Given the description of an element on the screen output the (x, y) to click on. 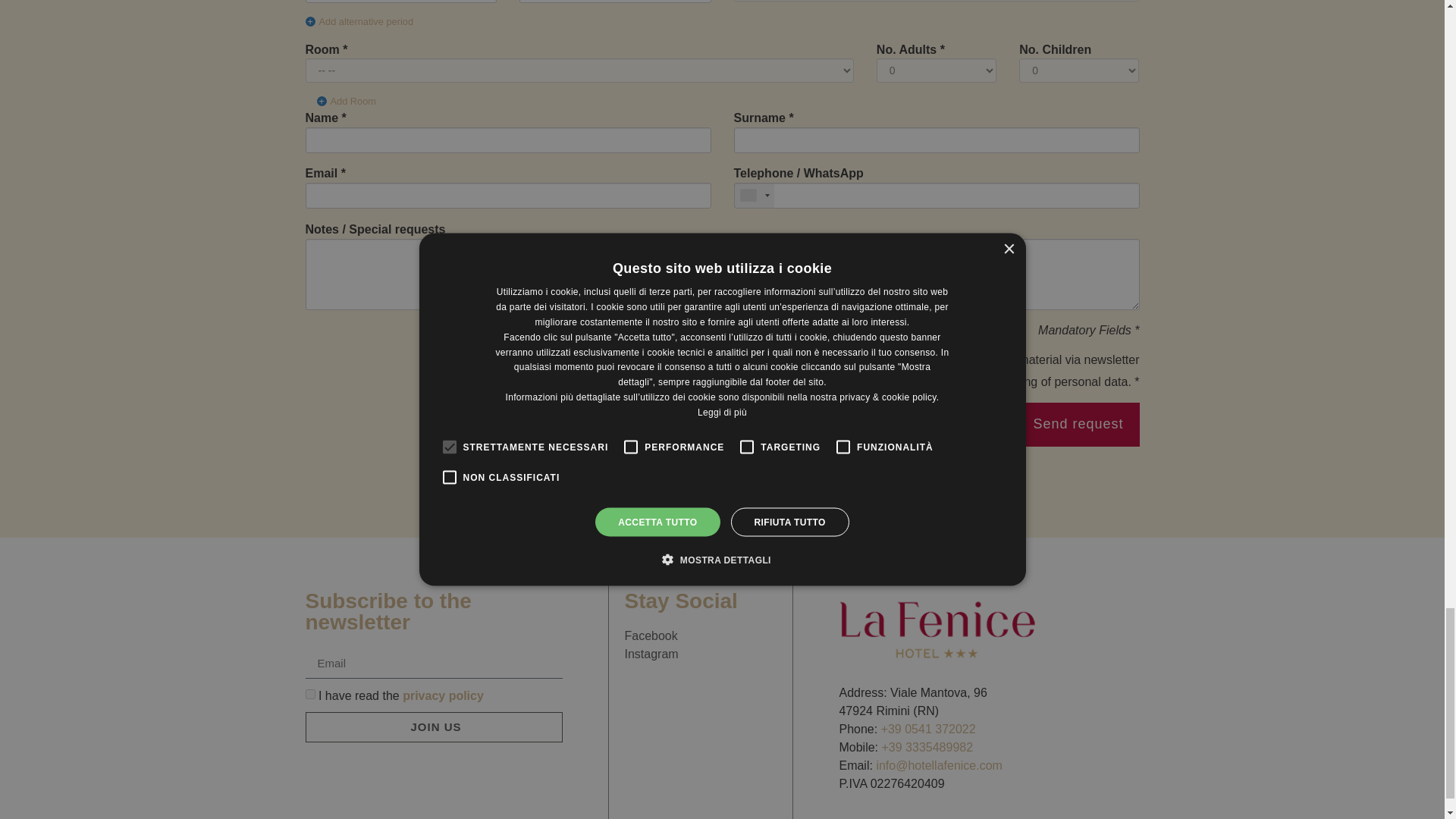
Room (321, 49)
on (737, 361)
on (705, 384)
on (309, 694)
